Given the description of an element on the screen output the (x, y) to click on. 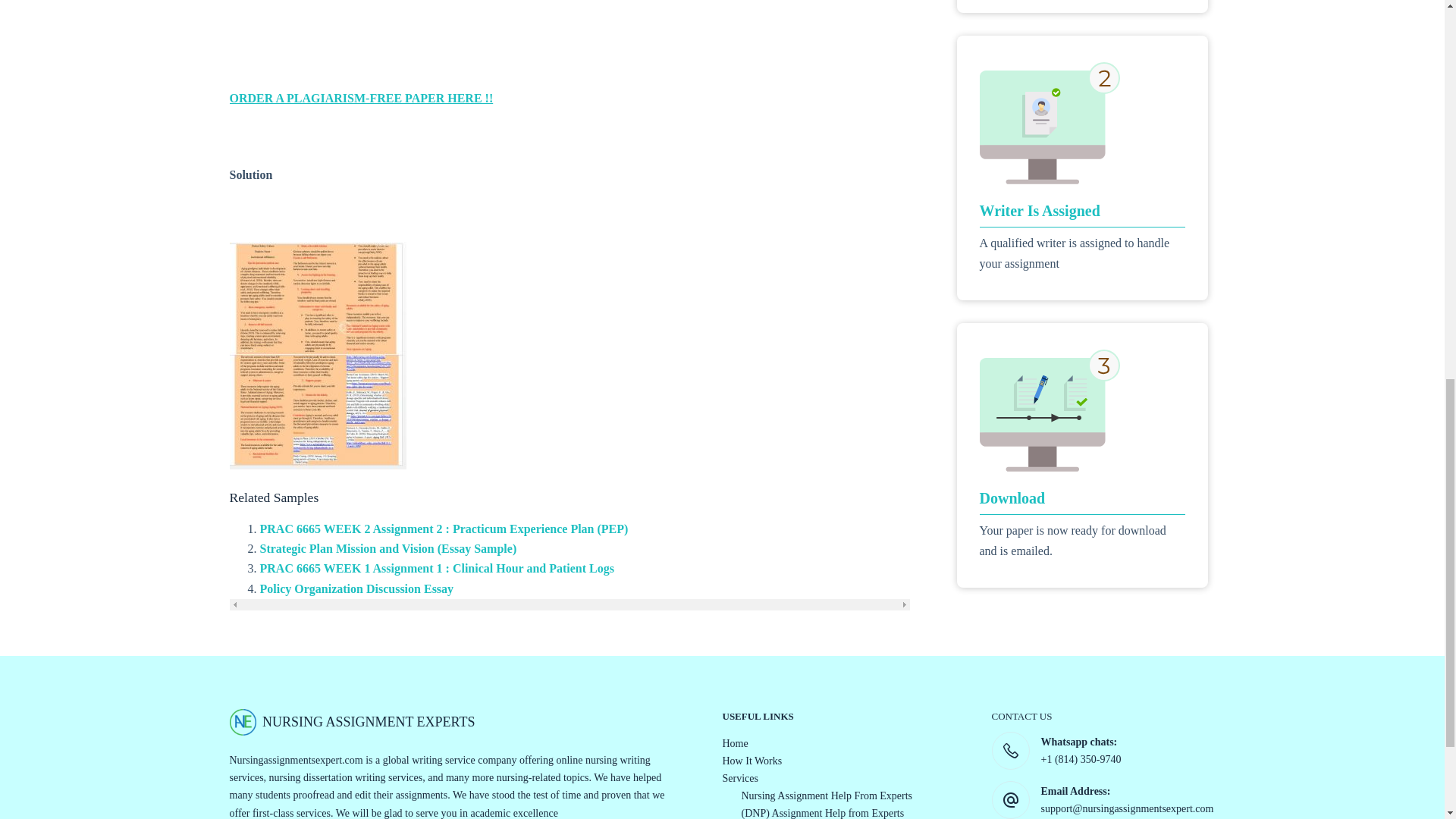
Policy Organization Discussion Essay (355, 588)
Nursing Assignment Help From Experts (826, 795)
Services (739, 778)
Home (735, 743)
Policy Organization Discussion Essay (355, 588)
ORDER A PLAGIARISM-FREE PAPER HERE !! (360, 97)
How It Works (751, 760)
